Given the description of an element on the screen output the (x, y) to click on. 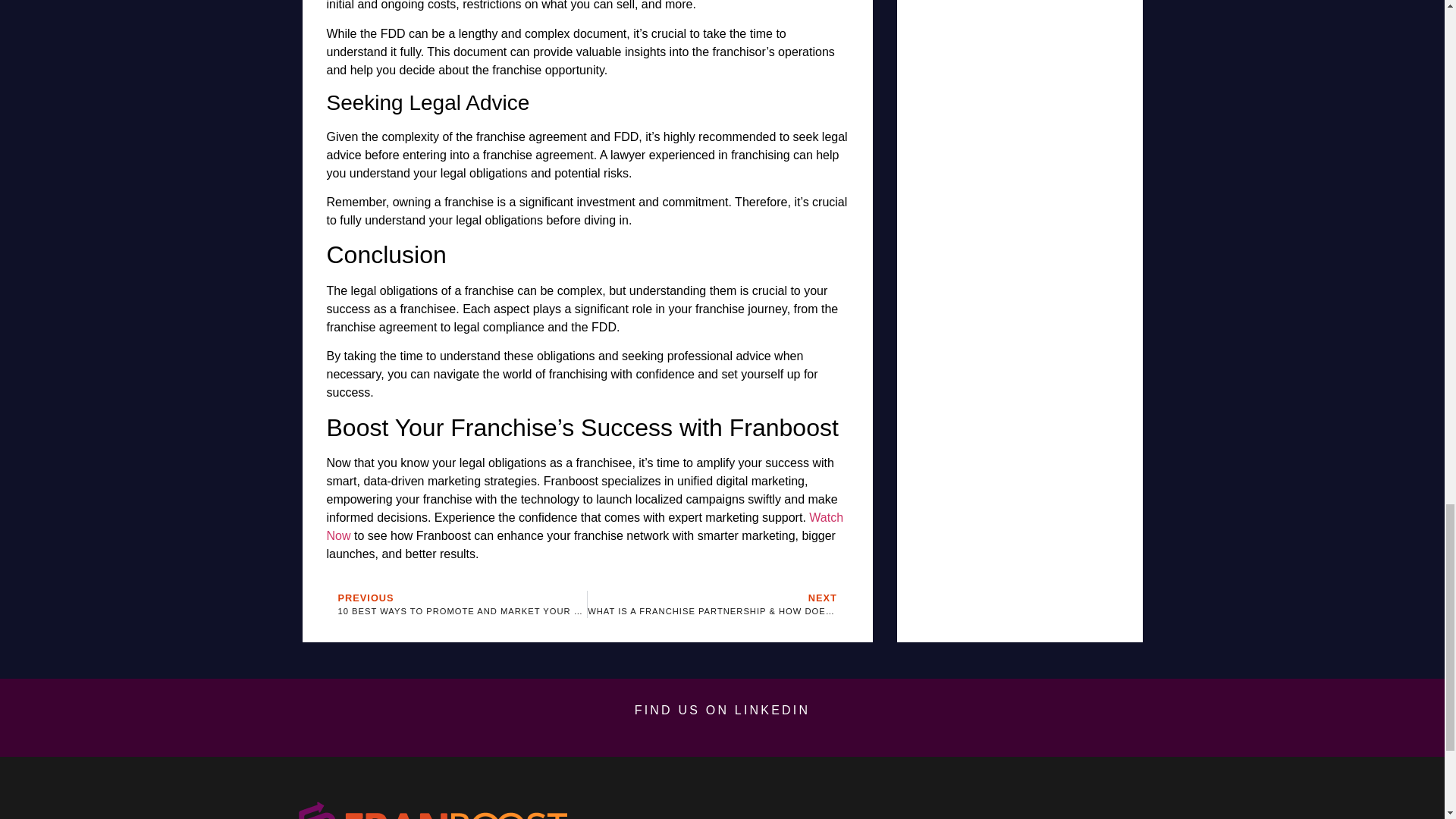
what are the legal obligations of a franchise - franboost (431, 809)
FIND US ON LINKEDIN (722, 709)
Watch Now (456, 604)
